Given the description of an element on the screen output the (x, y) to click on. 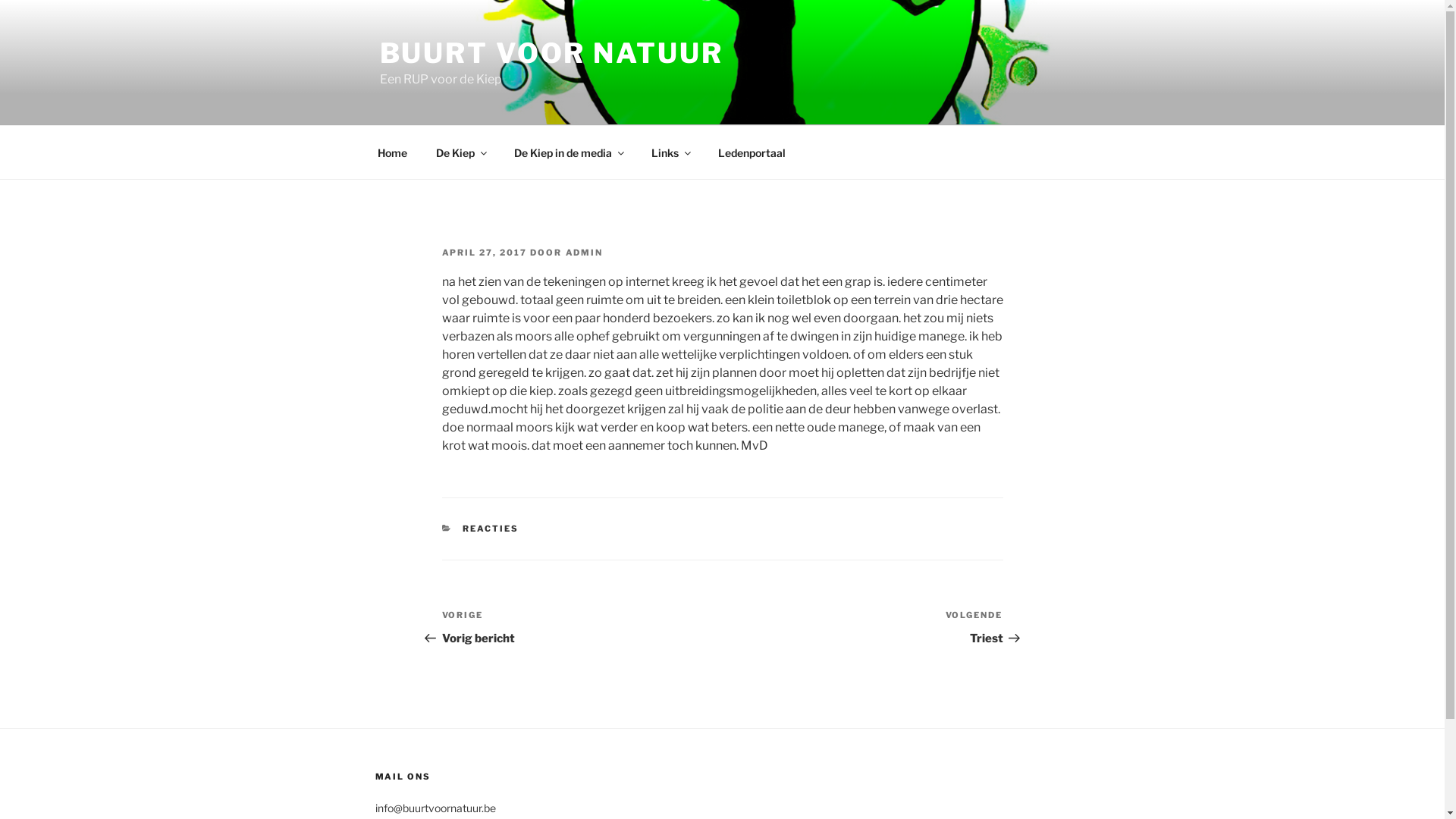
REACTIES Element type: text (490, 528)
APRIL 27, 2017 Element type: text (484, 252)
BUURT VOOR NATUUR Element type: text (550, 52)
Volgend bericht
VOLGENDE
Triest Element type: text (861, 627)
ADMIN Element type: text (584, 252)
Ledenportaal Element type: text (752, 151)
De Kiep Element type: text (460, 151)
Home Element type: text (392, 151)
De Kiep in de media Element type: text (567, 151)
Links Element type: text (670, 151)
Vorig bericht
VORIGE
Vorig bericht Element type: text (581, 627)
